Given the description of an element on the screen output the (x, y) to click on. 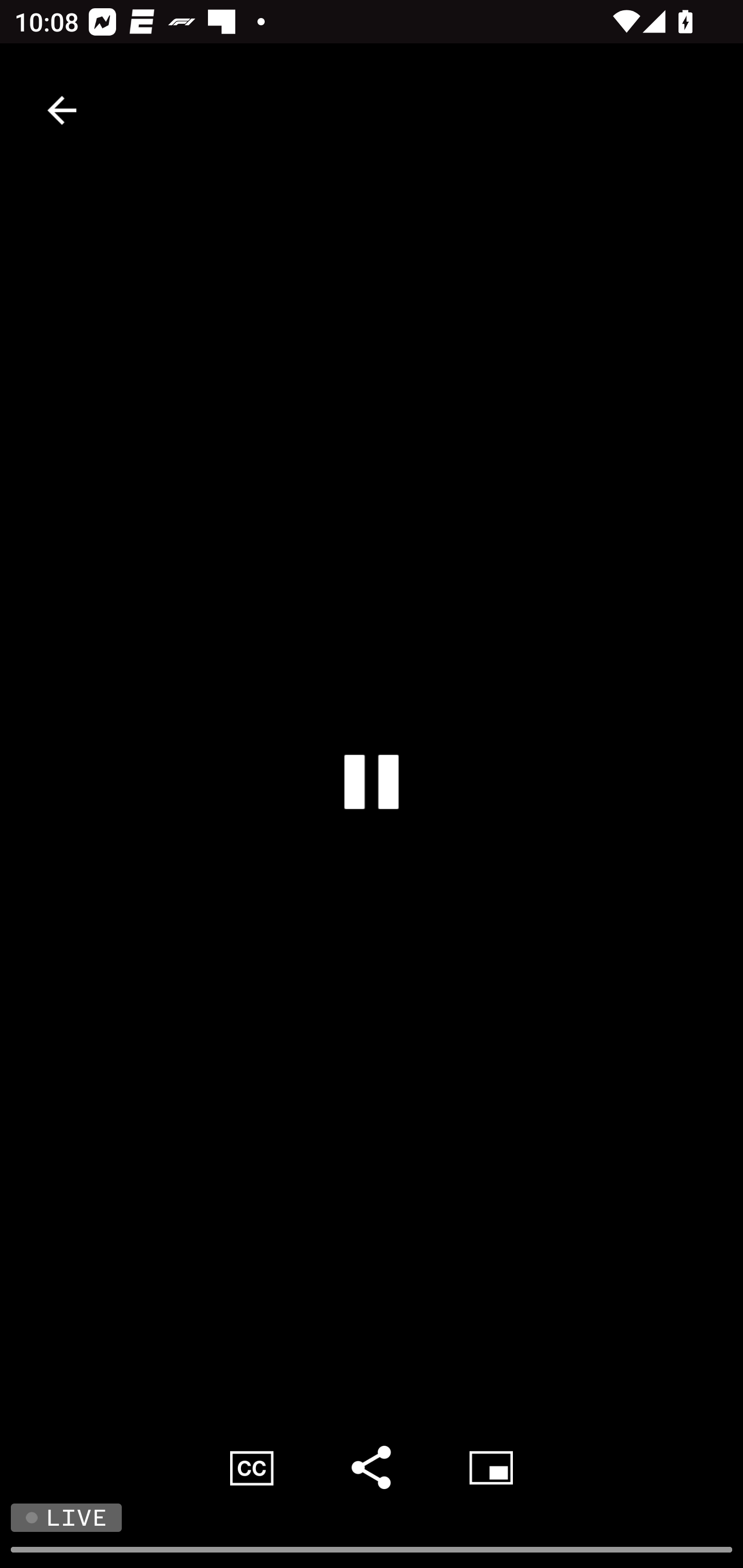
Back (61, 110)
Pause (371, 781)
Closed Captions, ON (251, 1467)
Share Media (371, 1467)
Picture in Picture Media (490, 1467)
